Given the description of an element on the screen output the (x, y) to click on. 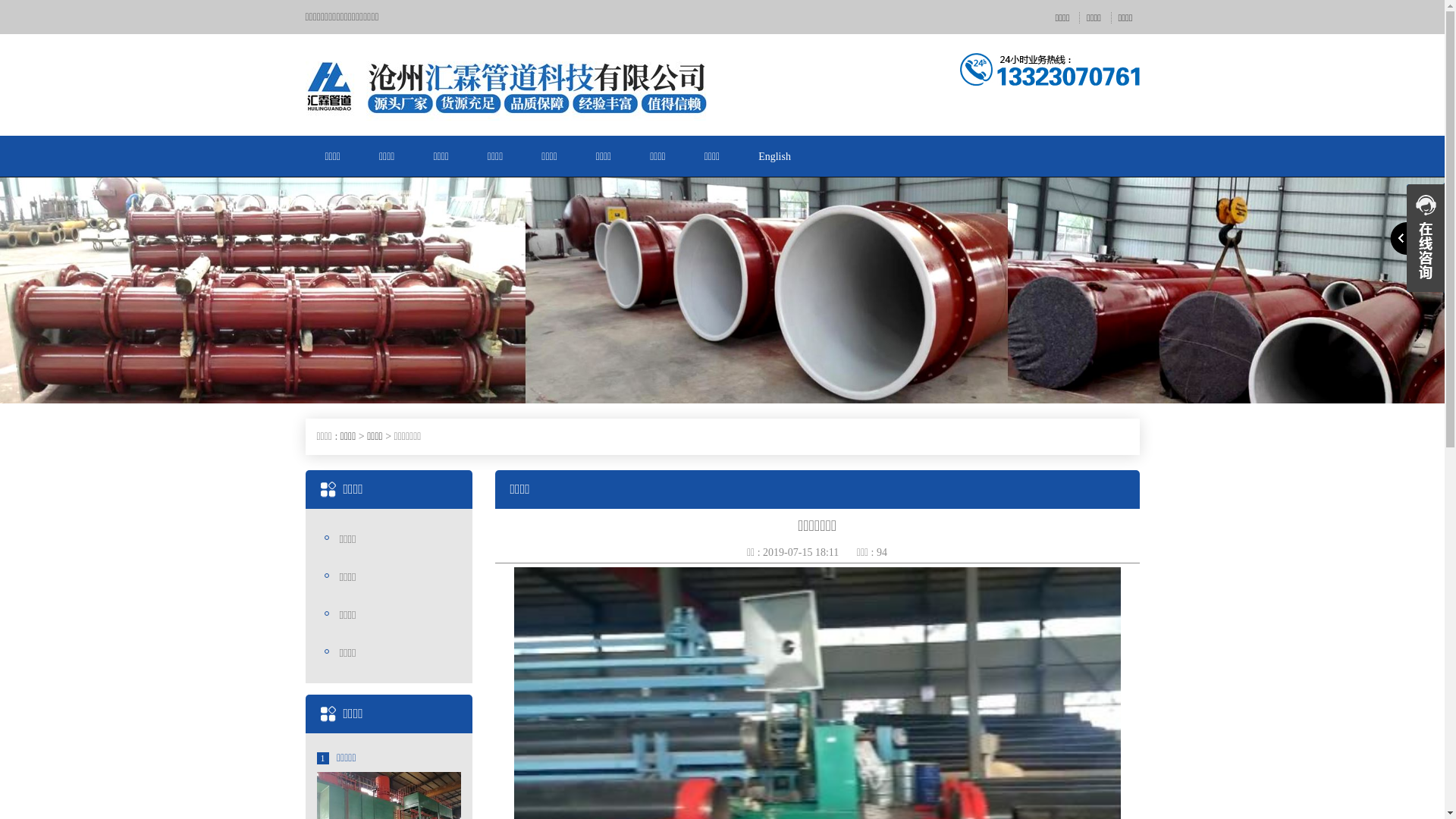
English Element type: text (774, 156)
